Given the description of an element on the screen output the (x, y) to click on. 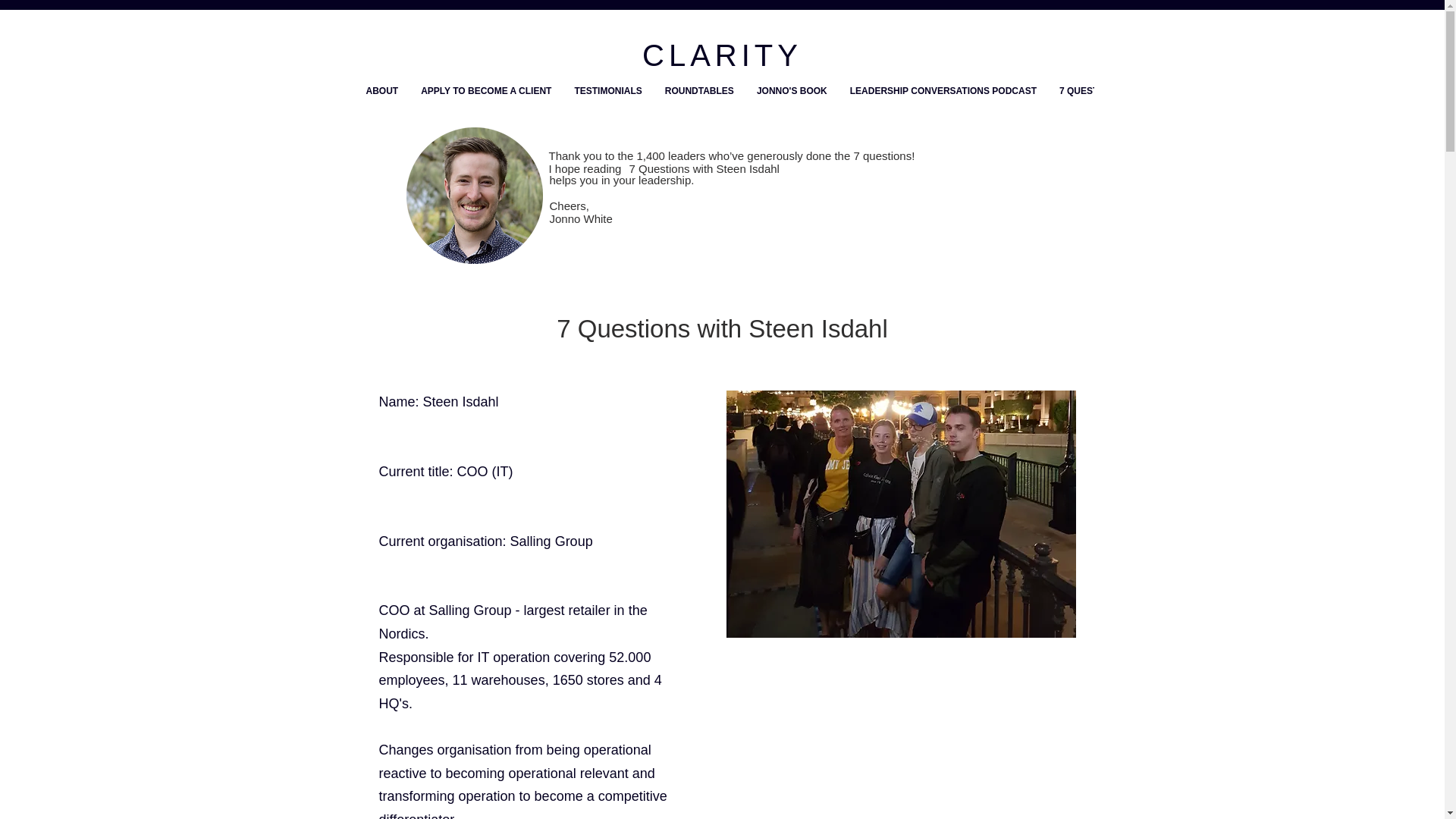
LEADERSHIP CONVERSATIONS PODCAST (943, 103)
ABOUT (382, 103)
7 QUESTIONS SERIES (1107, 103)
7 Questions with Steen Isdahl (900, 514)
TESTIMONIALS (607, 103)
JONNO'S BOOK (791, 103)
CLARITY (722, 55)
ROUNDTABLES (699, 103)
APPLY TO BECOME A CLIENT (485, 103)
